Given the description of an element on the screen output the (x, y) to click on. 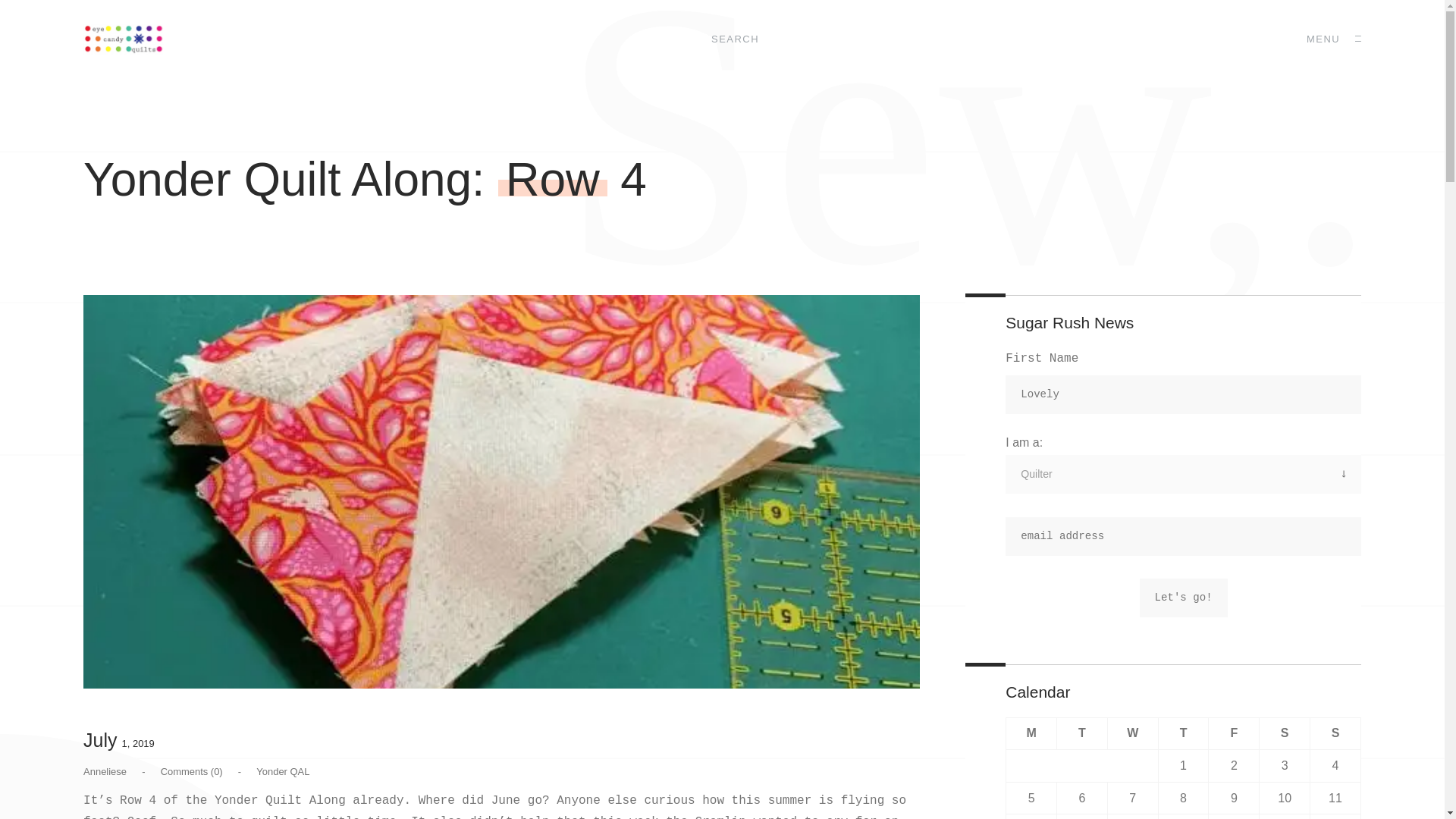
Let's go! (1183, 597)
Eye Candy Quilts (122, 39)
Saturday (1284, 733)
Monday (1031, 733)
Sunday (1335, 733)
Thursday (1182, 733)
Let's go! (1183, 597)
Anneliese (104, 771)
Wednesday (1131, 733)
SEARCH (734, 39)
